Given the description of an element on the screen output the (x, y) to click on. 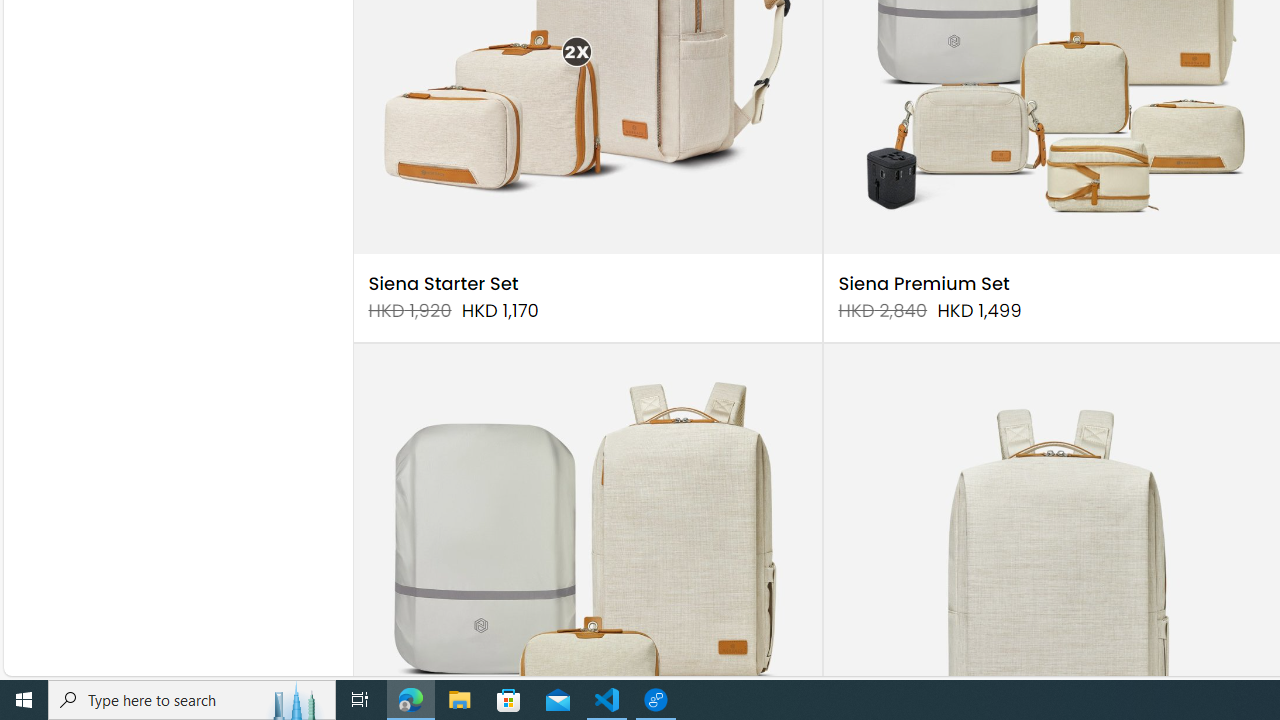
Siena Premium Set (923, 283)
Siena Starter Set (443, 283)
